Given the description of an element on the screen output the (x, y) to click on. 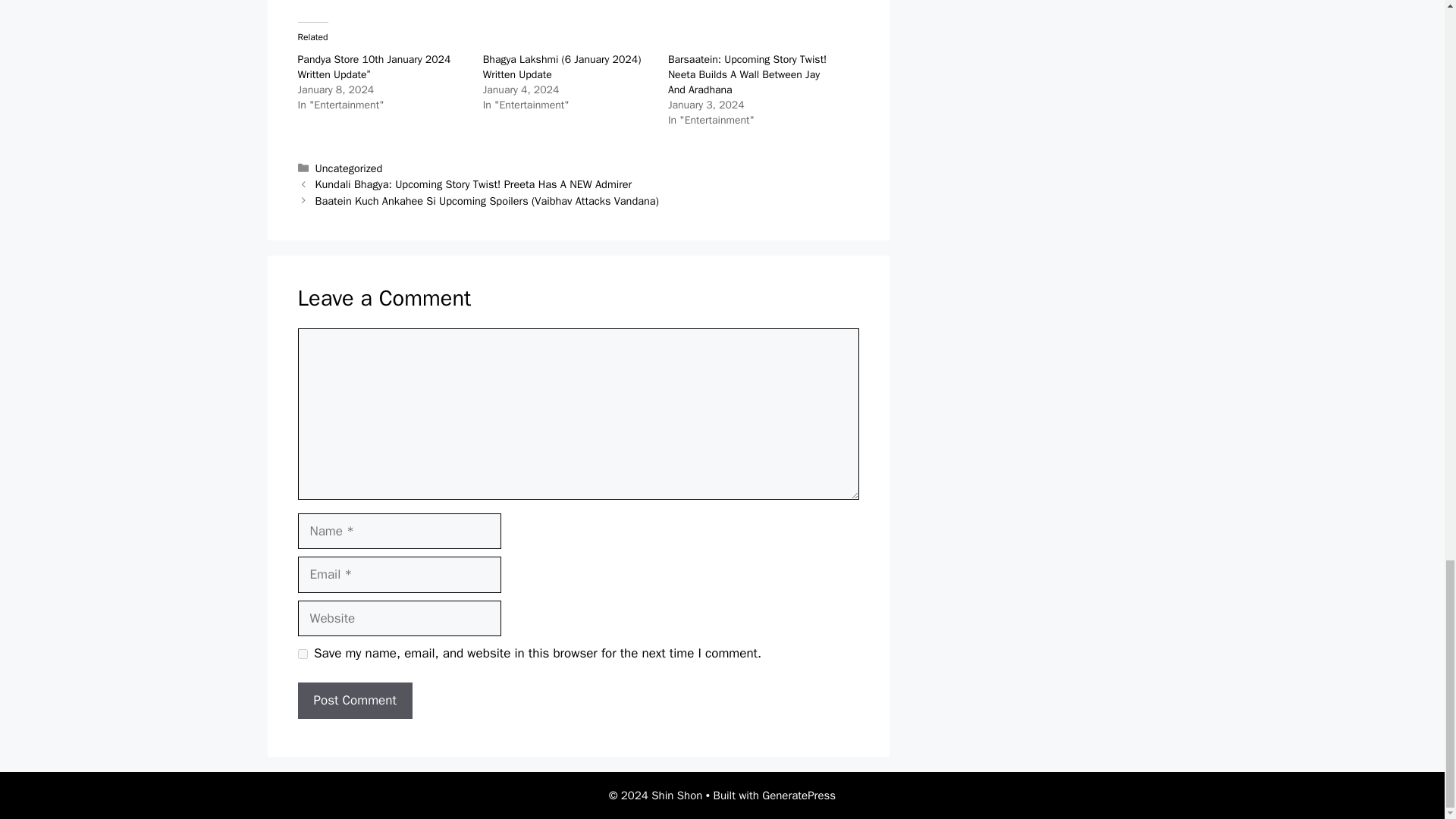
Post Comment (354, 700)
GeneratePress (798, 795)
Uncategorized (348, 168)
Post Comment (354, 700)
yes (302, 654)
